Given the description of an element on the screen output the (x, y) to click on. 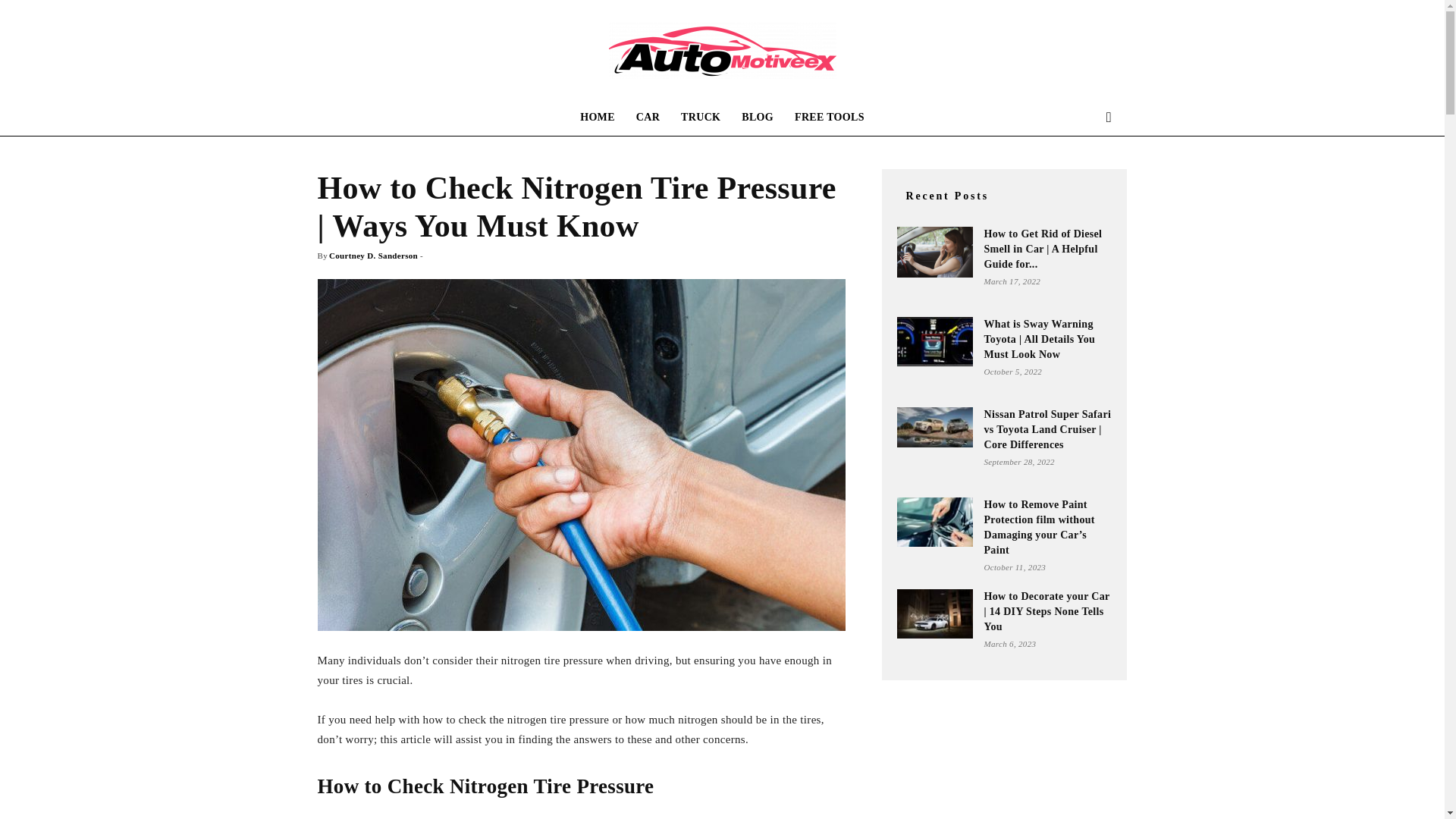
TRUCK (699, 117)
Search (1085, 178)
BLOG (757, 117)
CAR (647, 117)
FREE TOOLS (829, 117)
Courtney D. Sanderson (373, 255)
HOME (597, 117)
